Given the description of an element on the screen output the (x, y) to click on. 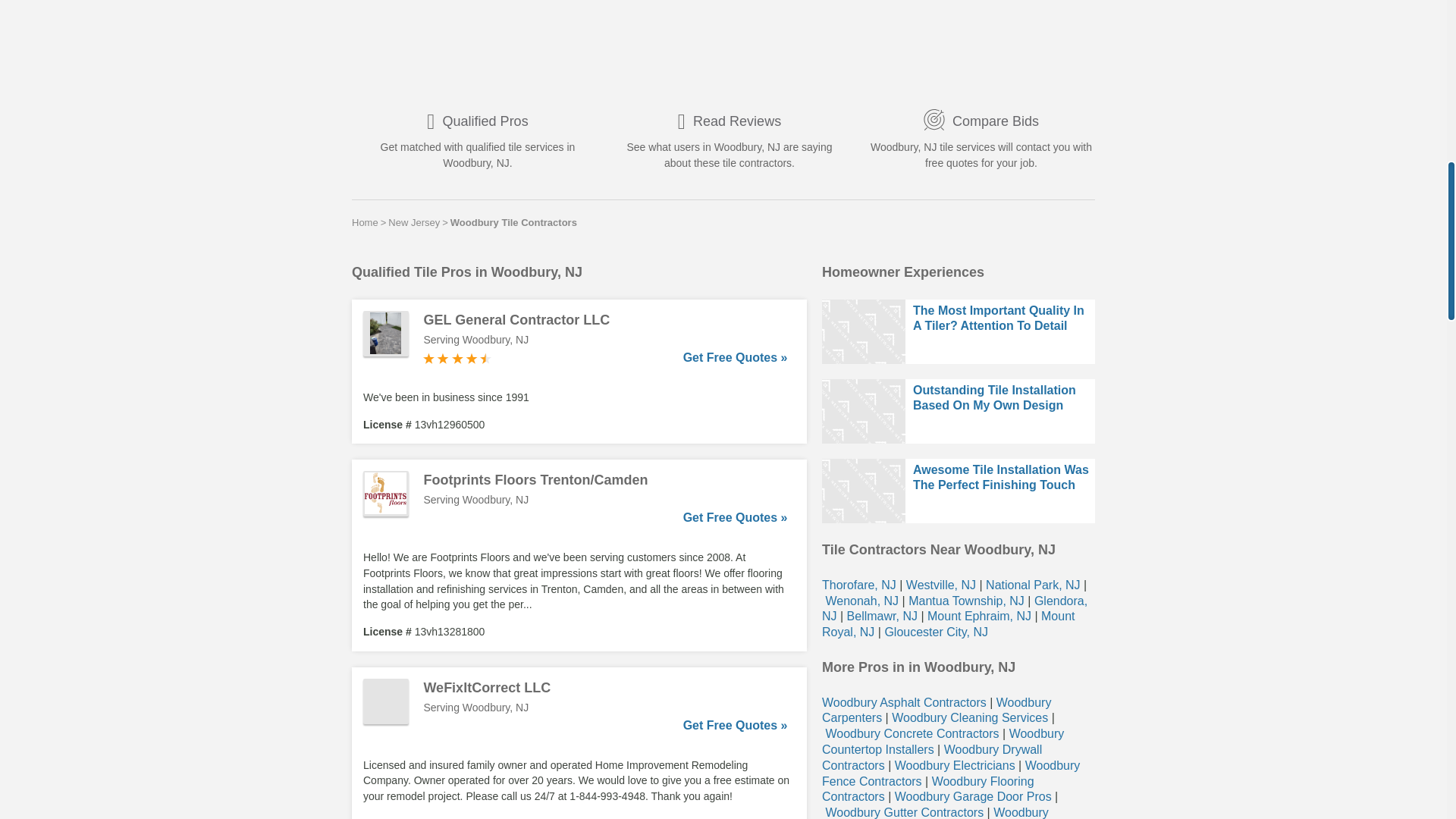
4.5 star rating (457, 358)
GEL General Contractor LLC (605, 320)
Home (365, 222)
New Jersey (413, 222)
